Given the description of an element on the screen output the (x, y) to click on. 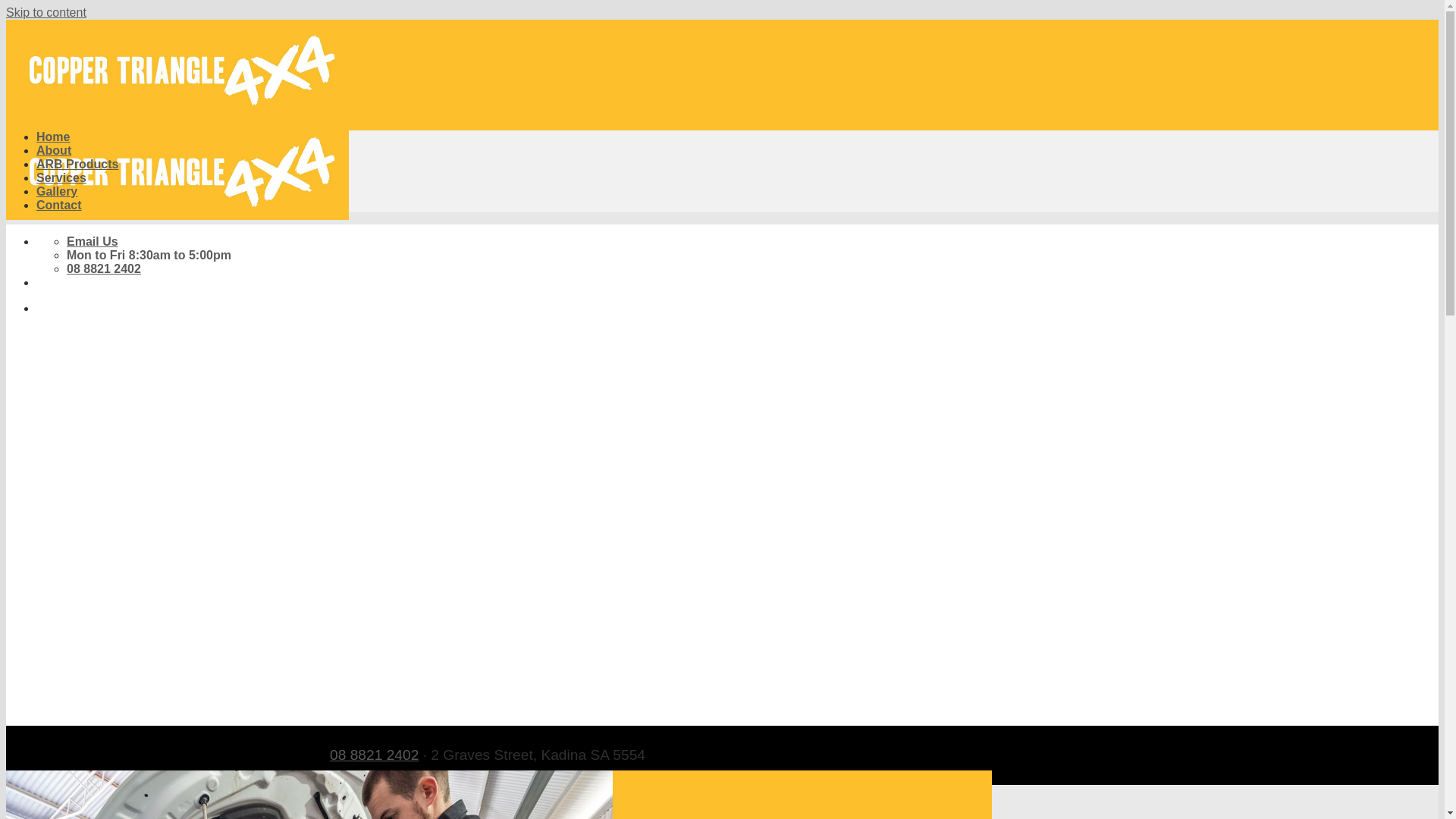
Mon to Fri 8:30am to 5:00pm Element type: text (148, 254)
Email Us Element type: text (92, 241)
Home Element type: text (52, 136)
ARB Products Element type: text (77, 163)
Services Element type: text (61, 177)
About Element type: text (53, 150)
08 8821 2402 Element type: text (103, 268)
Gallery Element type: text (56, 191)
Contact Element type: text (58, 204)
08 8821 2402 Element type: text (373, 754)
Skip to content Element type: text (46, 12)
